Given the description of an element on the screen output the (x, y) to click on. 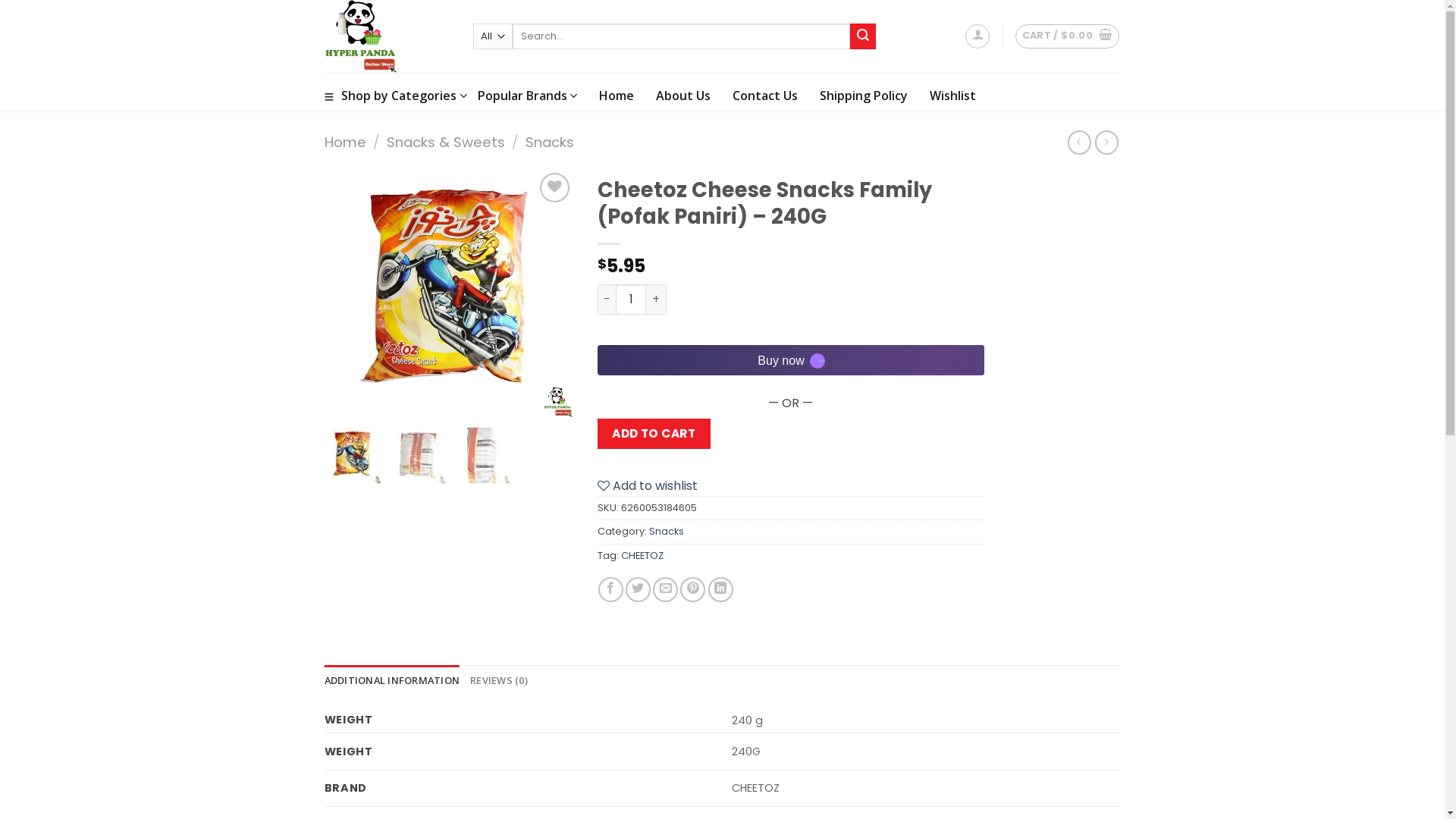
CART / $0.00 Element type: text (1067, 36)
Secure payment button frame Element type: hover (790, 360)
Wishlist Element type: text (952, 95)
ADD TO CART Element type: text (653, 433)
ADDITIONAL INFORMATION Element type: text (392, 680)
Snacks Element type: text (666, 530)
Home Element type: text (616, 95)
About Us Element type: text (682, 95)
CHEETOZ Element type: text (641, 555)
Search Element type: text (862, 36)
Email to a Friend Element type: hover (664, 589)
Pin on Pinterest Element type: hover (692, 589)
Popular Brands Element type: text (527, 95)
Home Element type: text (345, 141)
Snacks & Sweets Element type: text (445, 141)
REVIEWS (0) Element type: text (498, 680)
Add to wishlist Element type: text (647, 485)
Share on Facebook Element type: hover (610, 589)
Shipping Policy Element type: text (863, 95)
Share on LinkedIn Element type: hover (720, 589)
Snacks Element type: text (549, 141)
Contact Us Element type: text (764, 95)
Share on Twitter Element type: hover (637, 589)
